Given the description of an element on the screen output the (x, y) to click on. 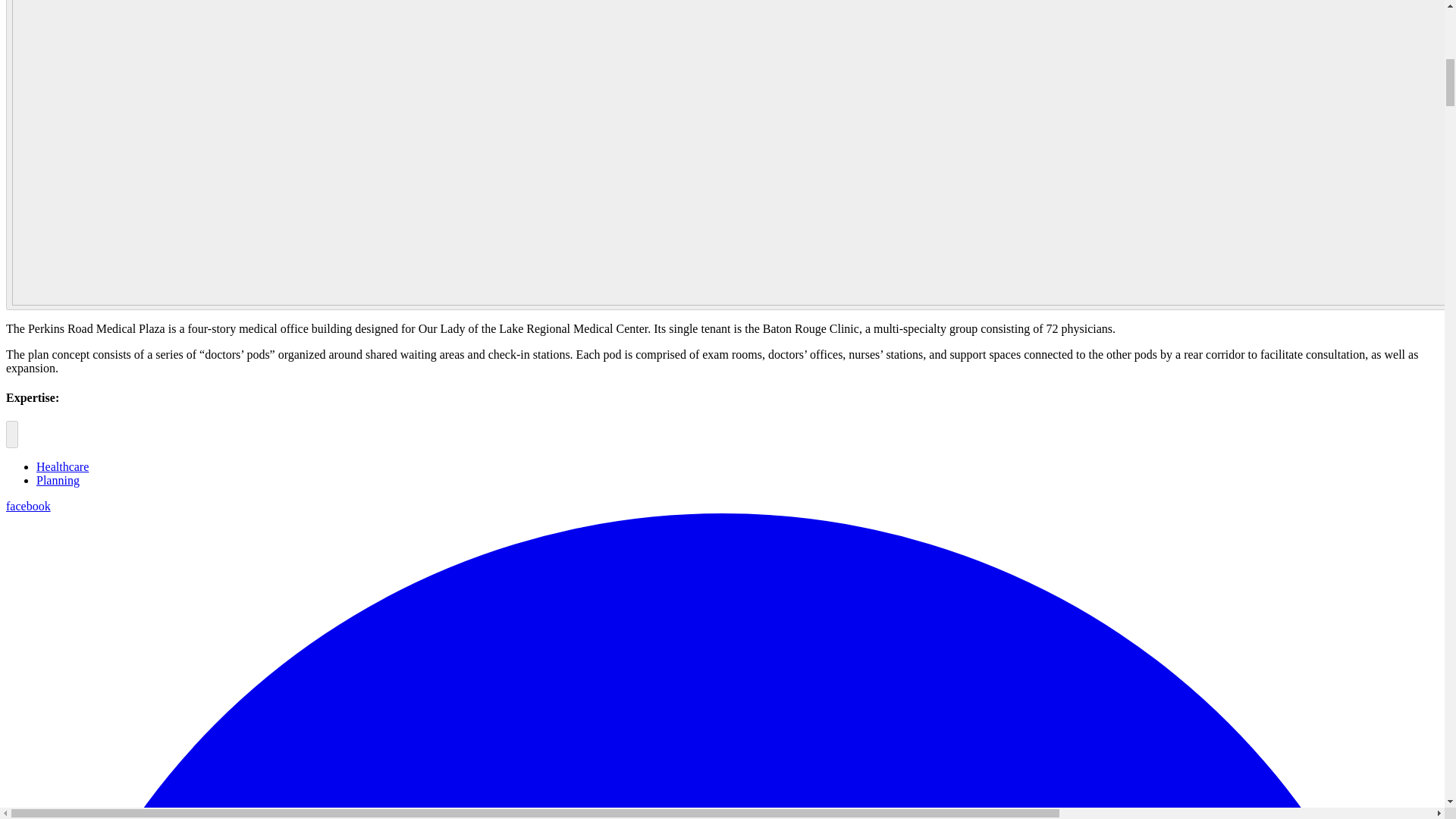
Healthcare (62, 466)
Planning (58, 480)
